Given the description of an element on the screen output the (x, y) to click on. 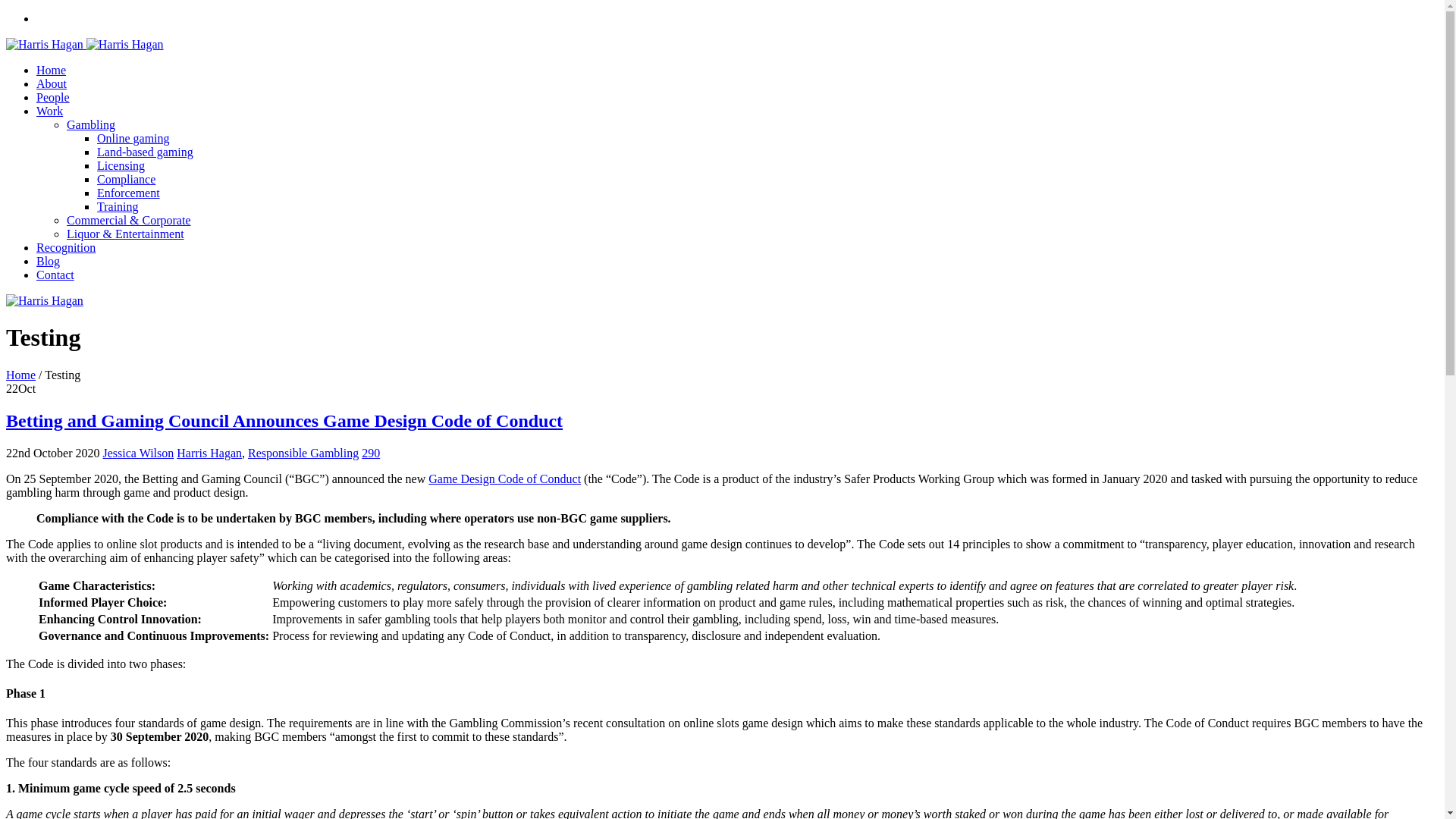
Home (50, 69)
Compliance (126, 178)
Game Design Code of Conduct (504, 478)
View all posts by Jessica Wilson (138, 452)
290 (370, 452)
Harris Hagan (208, 452)
Responsible Gambling (302, 452)
Home (19, 374)
About (51, 83)
Recognition (66, 246)
Like (370, 452)
Enforcement (128, 192)
Online gaming (133, 137)
Blog (47, 260)
